Given the description of an element on the screen output the (x, y) to click on. 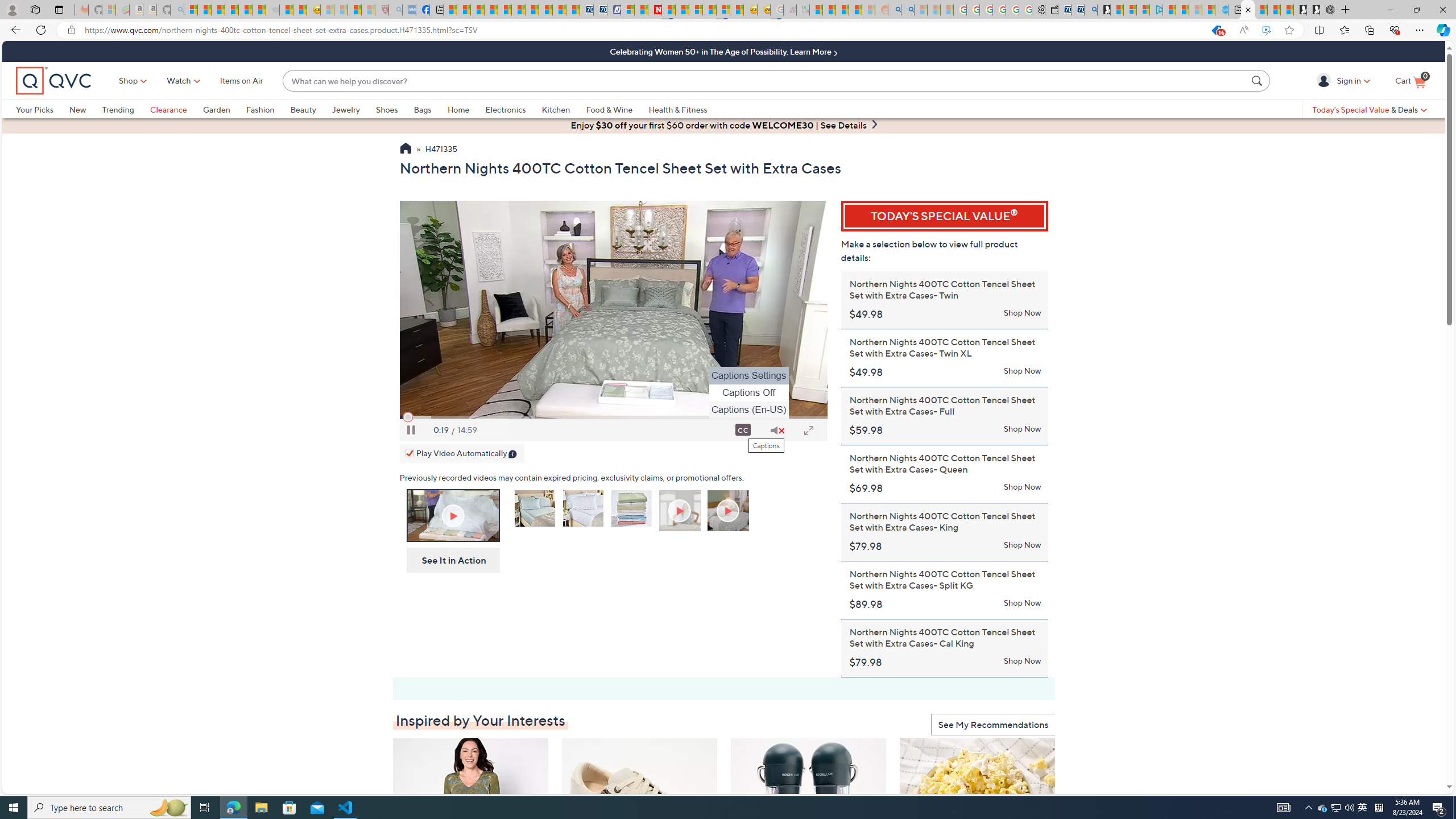
Health & Fitness (677, 109)
Shoes (386, 109)
Trending (125, 109)
